Given the description of an element on the screen output the (x, y) to click on. 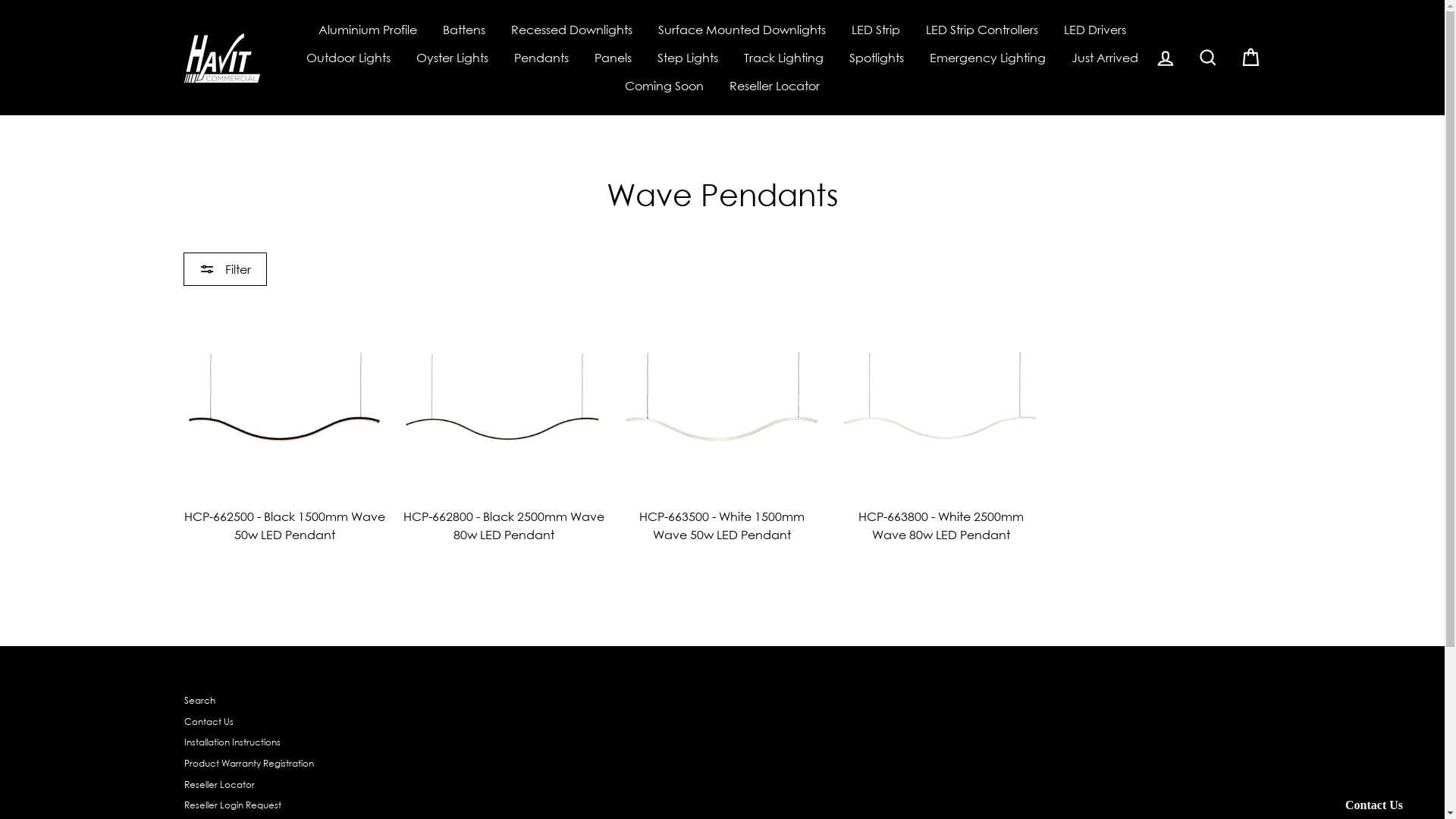
Spotlights Element type: text (876, 57)
Aluminium Profile Element type: text (367, 29)
Battens Element type: text (463, 29)
Skip to content Element type: text (0, 0)
Log in Element type: text (1164, 57)
LED Strip Element type: text (875, 29)
Reseller Login Request Element type: text (231, 805)
Panels Element type: text (613, 57)
Search Element type: text (198, 700)
Contact Us Element type: text (207, 721)
LED Strip Controllers Element type: text (981, 29)
HCP-663500 - White 1500mm Wave 50w LED Pendant Element type: text (721, 424)
Coming Soon Element type: text (664, 86)
Installation Instructions Element type: text (231, 742)
Product Warranty Registration Element type: text (248, 763)
Step Lights Element type: text (687, 57)
Search Element type: text (1206, 57)
Just Arrived Element type: text (1104, 57)
Surface Mounted Downlights Element type: text (741, 29)
Filter Element type: text (224, 268)
Reseller Locator Element type: text (218, 784)
Recessed Downlights Element type: text (571, 29)
Reseller Locator Element type: text (774, 86)
LED Drivers Element type: text (1094, 29)
Oyster Lights Element type: text (451, 57)
Track Lighting Element type: text (783, 57)
HCP-662500 - Black 1500mm Wave 50w LED Pendant Element type: text (284, 424)
HCP-663800 - White 2500mm Wave 80w LED Pendant Element type: text (940, 424)
Pendants Element type: text (541, 57)
Cart Element type: text (1249, 57)
Emergency Lighting Element type: text (987, 57)
Outdoor Lights Element type: text (347, 57)
HCP-662800 - Black 2500mm Wave 80w LED Pendant Element type: text (503, 424)
